Given the description of an element on the screen output the (x, y) to click on. 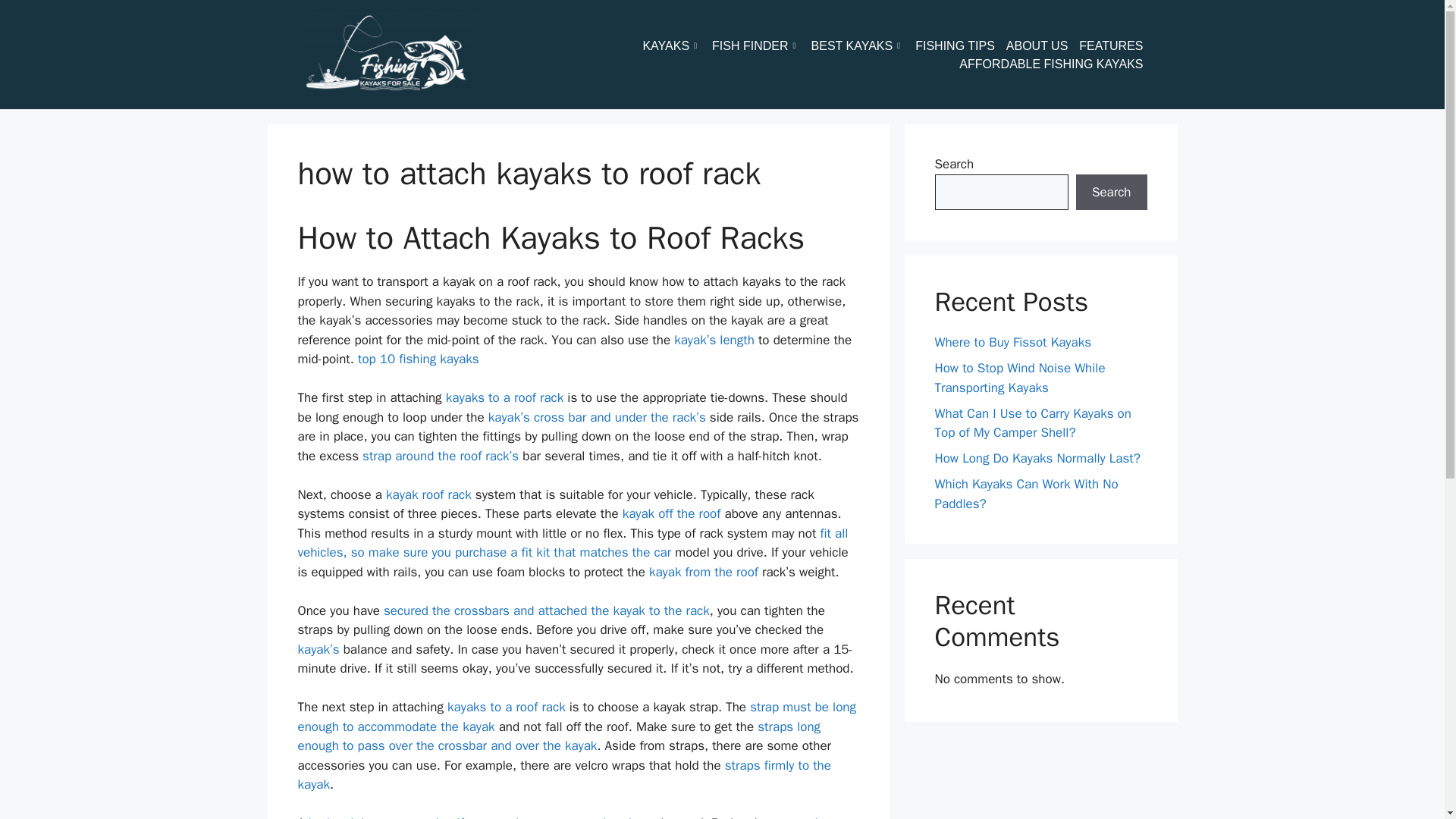
ABOUT US (1043, 45)
kayak off the roof (671, 513)
BEST KAYAKS (862, 45)
kayak roof rack (428, 494)
FISHING TIPS (960, 45)
FISH FINDER (760, 45)
KAYAKS (676, 45)
top 10 fishing kayaks (418, 358)
kayaks to a roof rack (504, 397)
AFFORDABLE FISHING KAYAKS (1056, 64)
FEATURES (1116, 45)
